Given the description of an element on the screen output the (x, y) to click on. 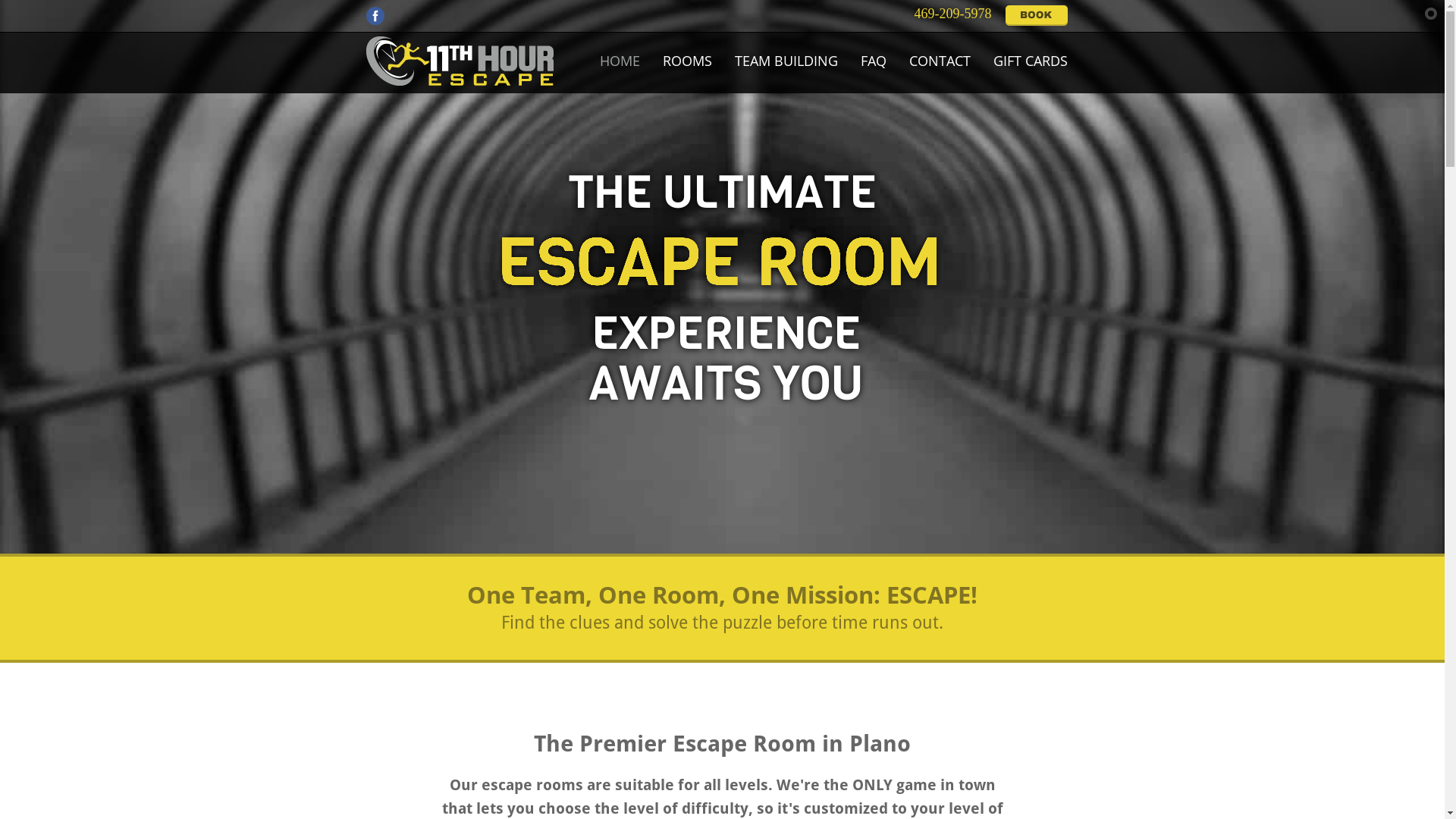
TEAM BUILDING Element type: text (786, 60)
  469-209-5978 Element type: text (948, 13)
ROOMS Element type: text (686, 60)
FAQ Element type: text (873, 60)
GIFT CARDS Element type: text (1029, 60)
CONTACT Element type: text (939, 60)
HOME Element type: text (619, 60)
